Given the description of an element on the screen output the (x, y) to click on. 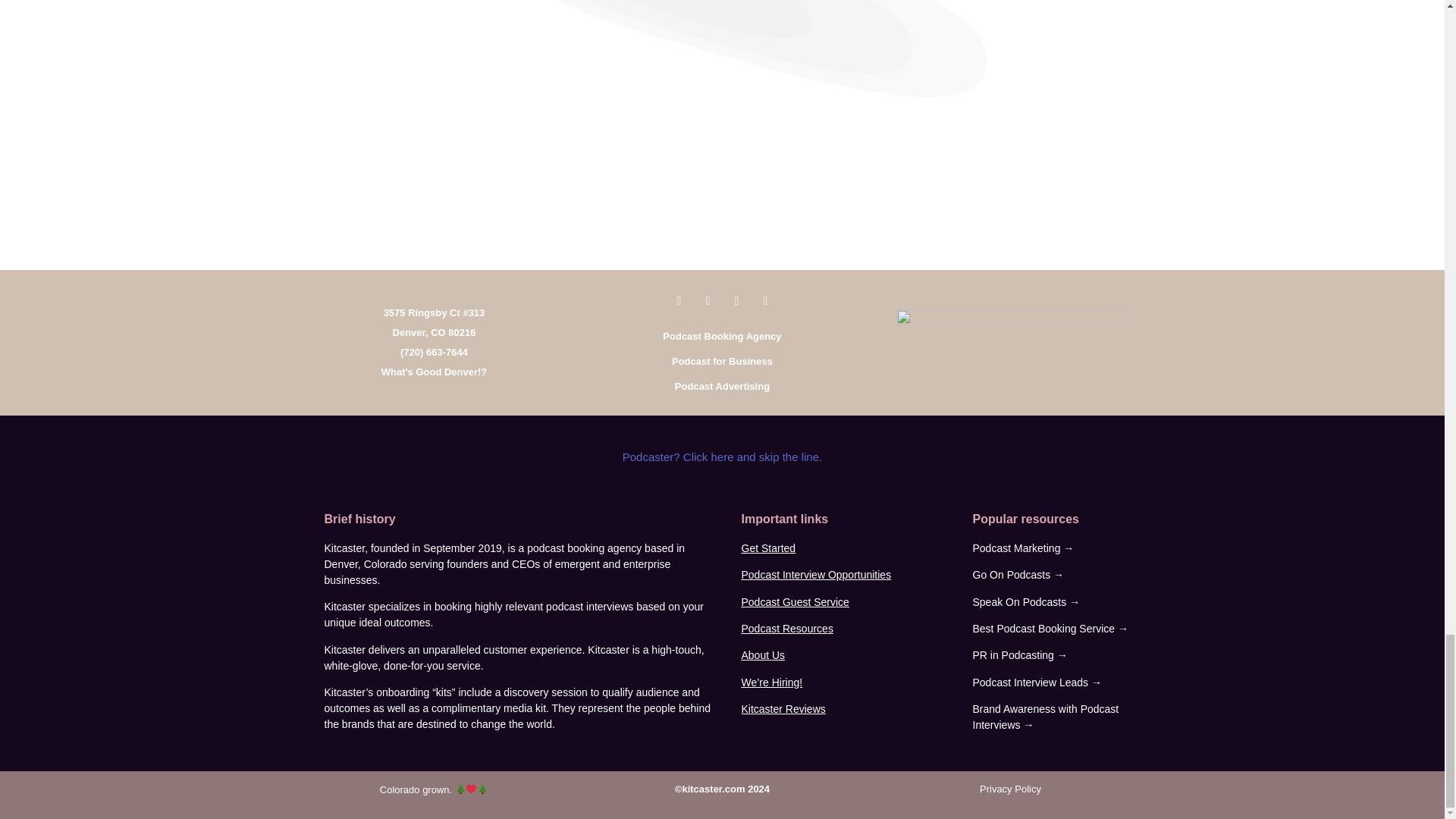
Podcast for Business (722, 360)
Podcaster? Click here and skip the line. (722, 456)
About Us (763, 654)
Podcast Advertising (722, 386)
Podcast Resources (786, 628)
Podcast Booking Agency (721, 336)
Podcast Interview Opportunities (816, 574)
Kitcaster Reviews (783, 708)
Get Started (768, 548)
Eric Wright Case Study 3 (691, 7)
Podcast Guest Service (794, 602)
Privacy Policy (1010, 788)
